Given the description of an element on the screen output the (x, y) to click on. 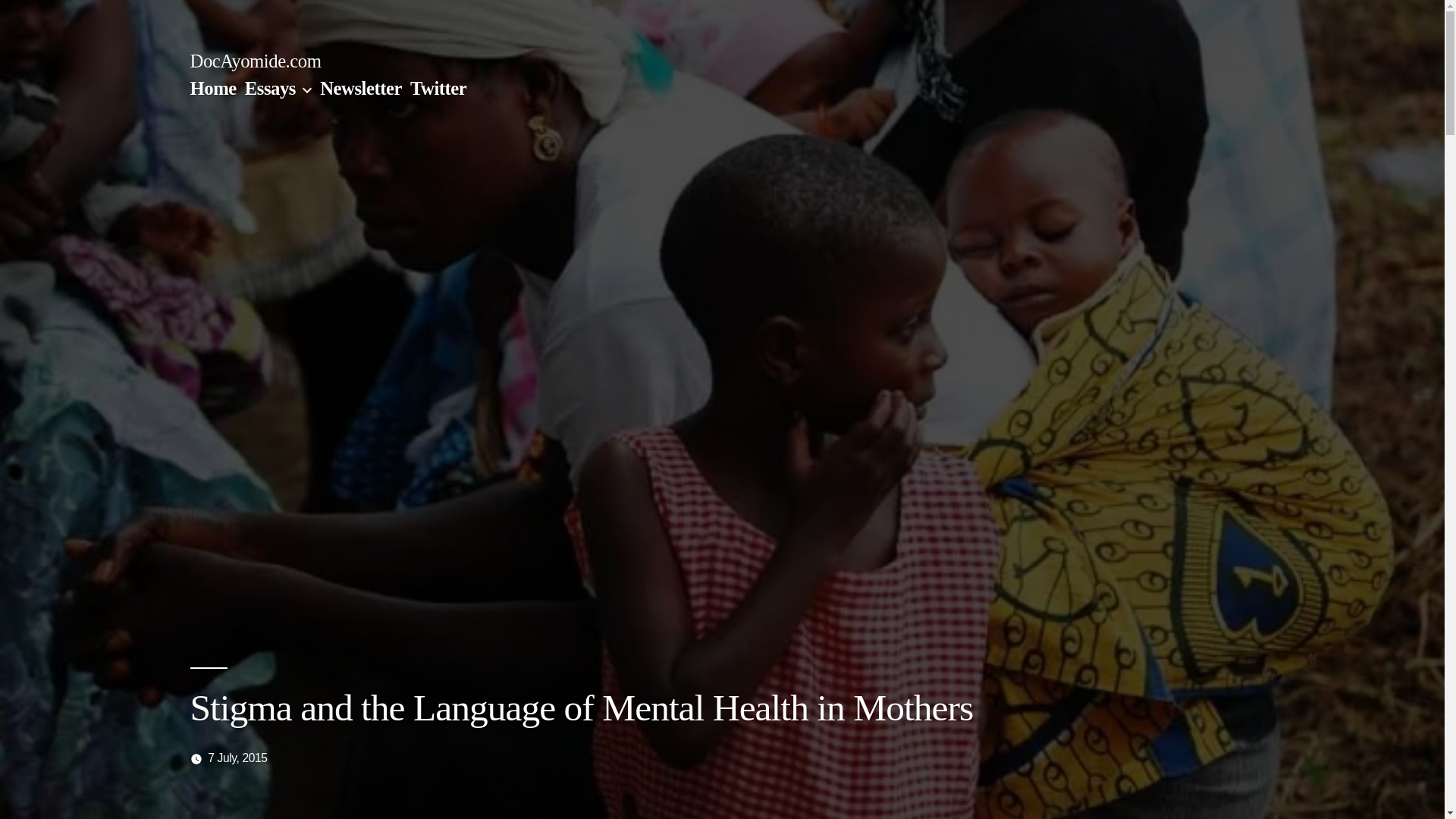
7 July, 2015 (237, 757)
Newsletter (360, 87)
Essays (269, 87)
DocAyomide.com (254, 60)
Twitter (437, 87)
Home (212, 87)
